Given the description of an element on the screen output the (x, y) to click on. 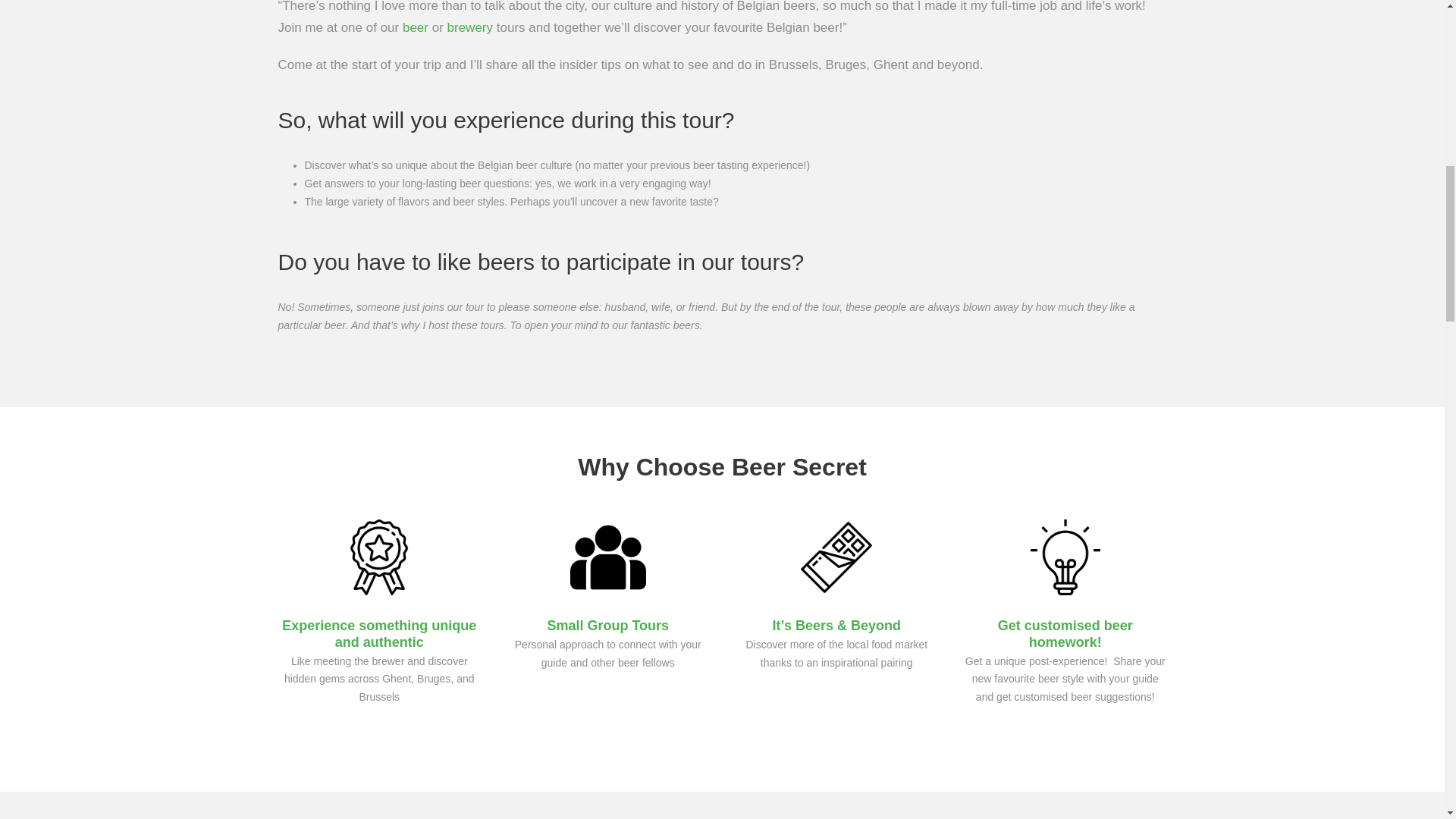
FareHarbor (1342, 64)
002-group (608, 557)
001-medal (378, 557)
